Given the description of an element on the screen output the (x, y) to click on. 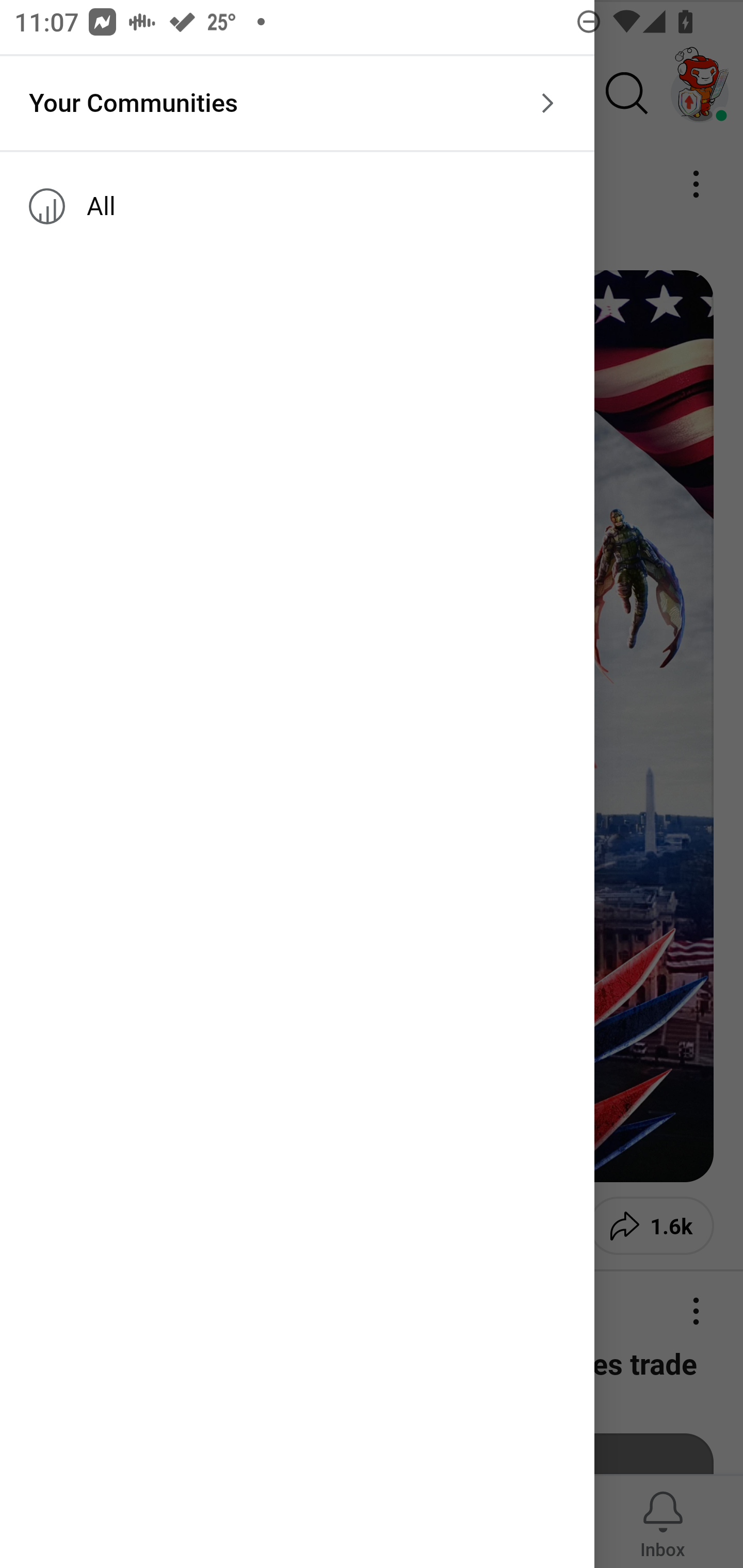
Your Communities (297, 103)
All (297, 206)
